Given the description of an element on the screen output the (x, y) to click on. 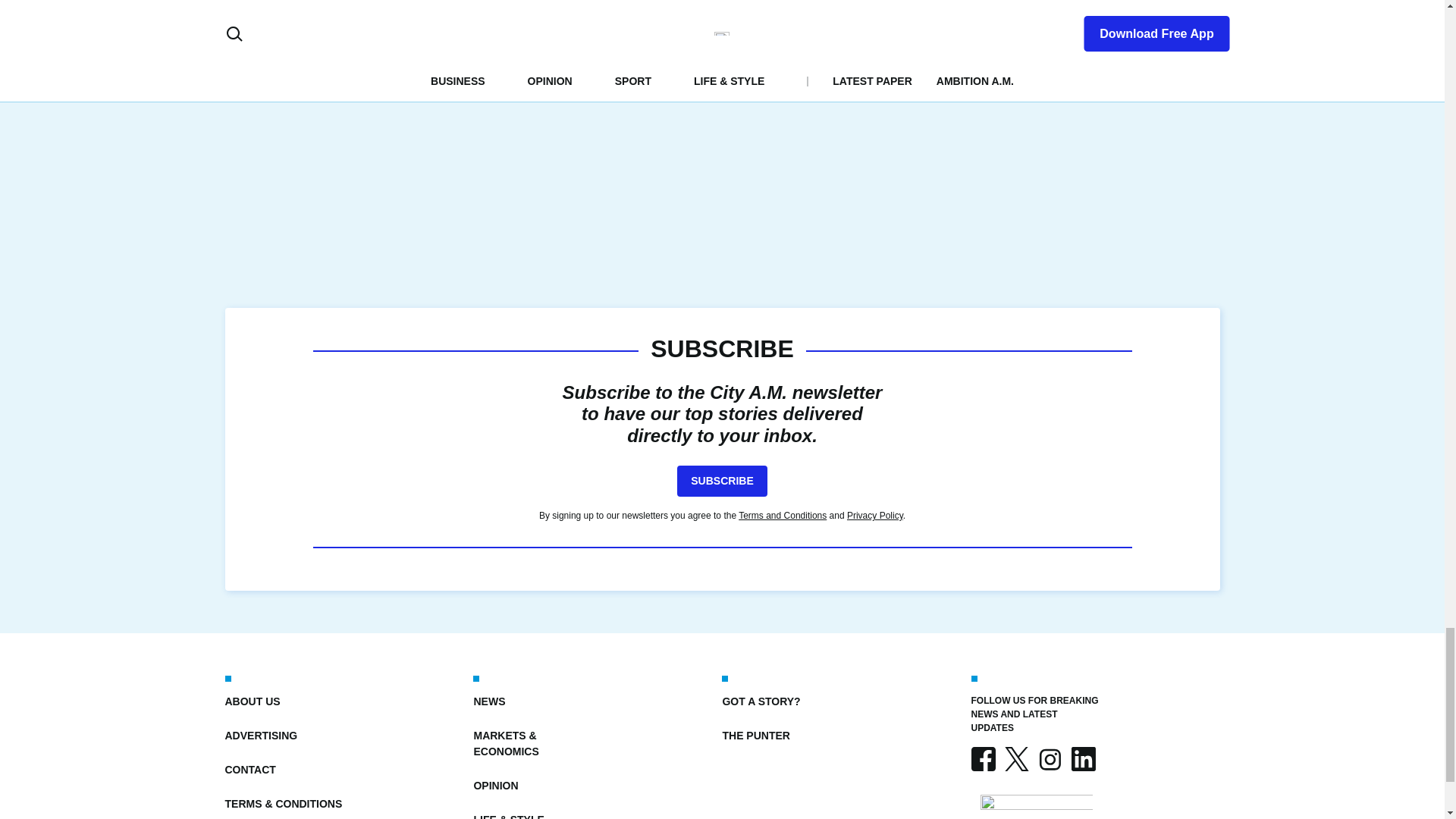
X (1015, 758)
FACEBOOK (982, 758)
INSTAGRAM (1048, 758)
LINKEDIN (1082, 758)
